Given the description of an element on the screen output the (x, y) to click on. 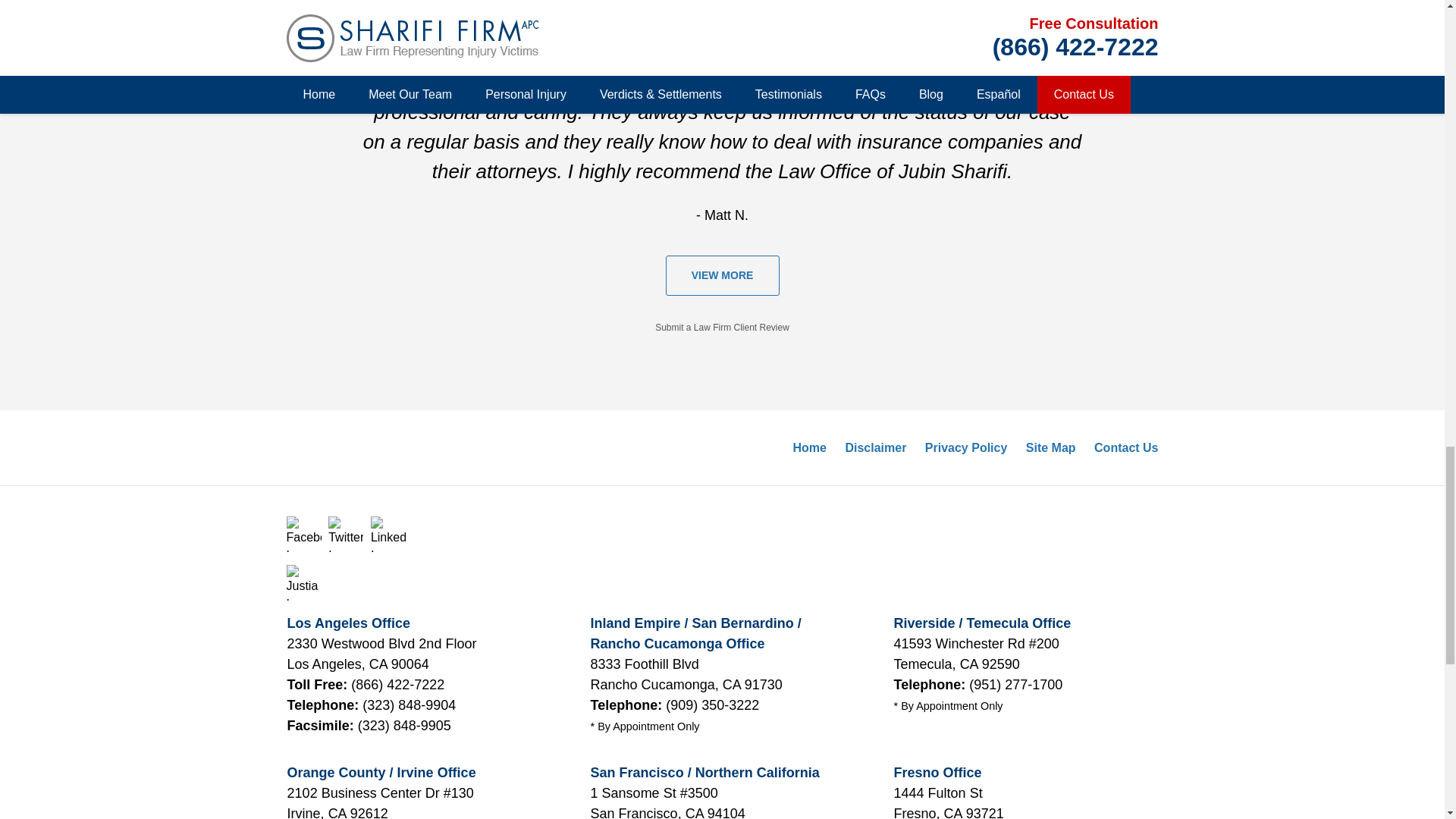
Justia (303, 582)
Facebook (303, 533)
LinkedIn (388, 533)
Twitter (345, 533)
